Given the description of an element on the screen output the (x, y) to click on. 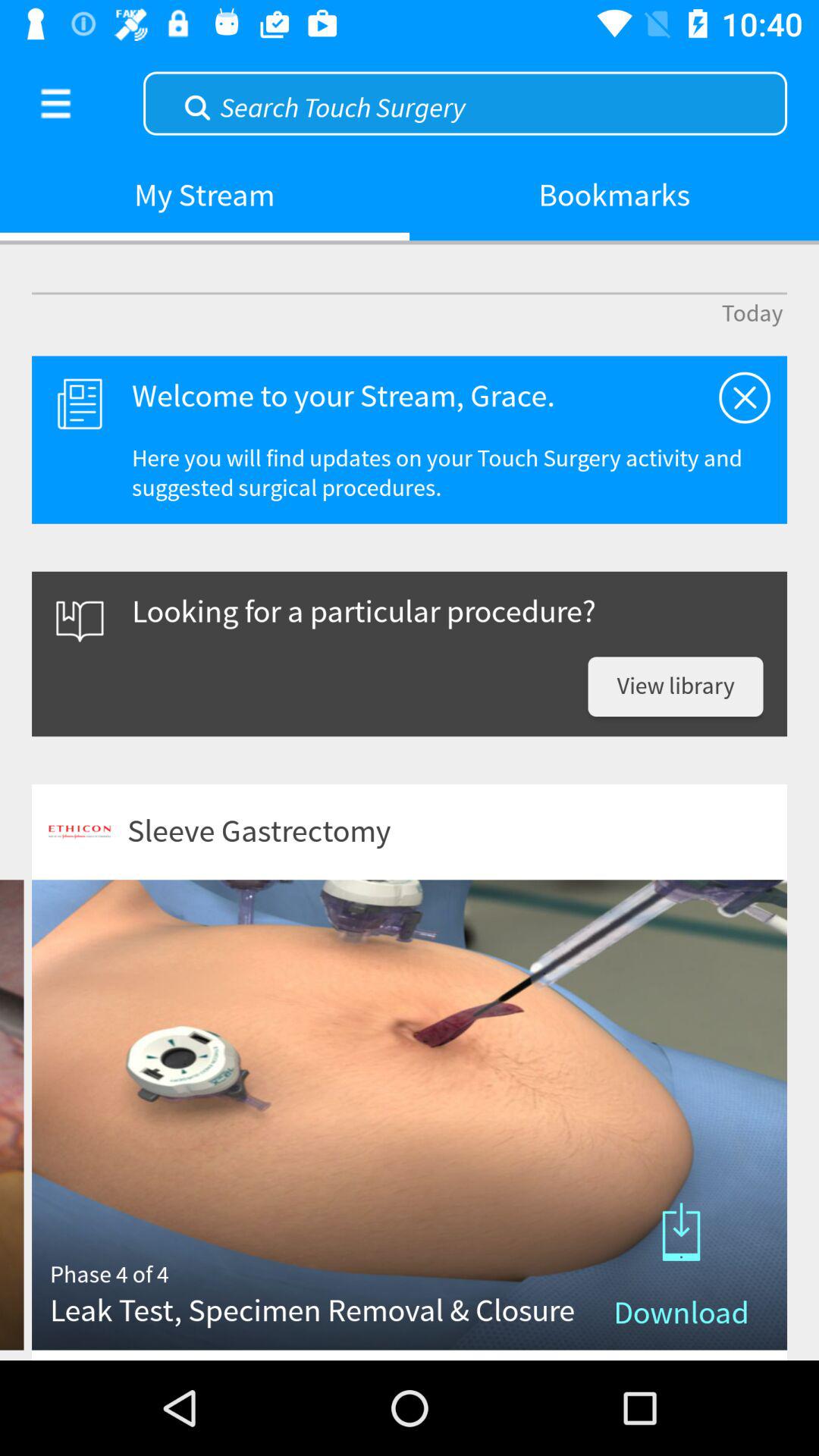
tap the item above the my stream icon (465, 102)
